Given the description of an element on the screen output the (x, y) to click on. 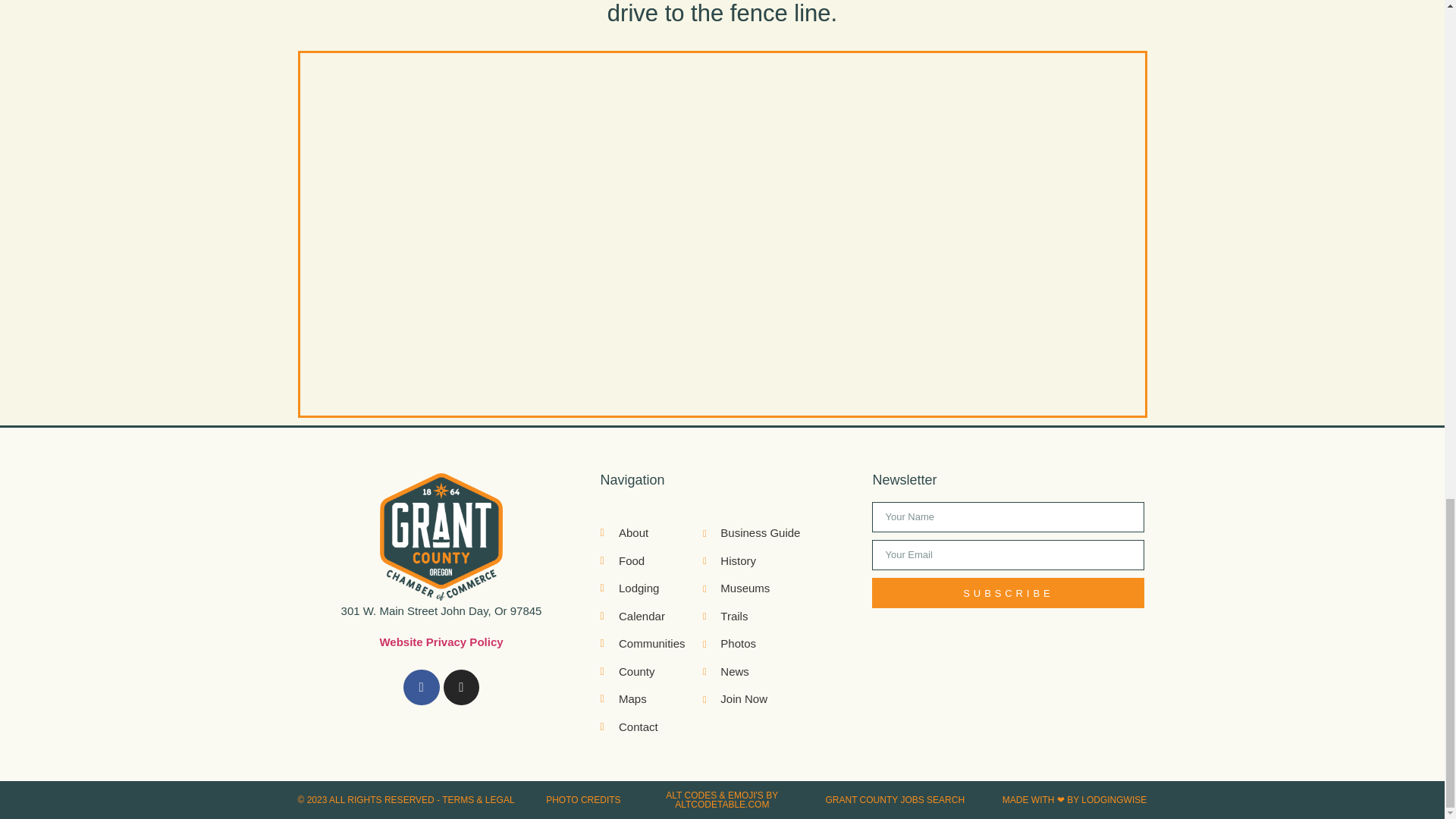
Lodging (651, 588)
About (651, 533)
Calendar (651, 616)
Website Privacy Policy (440, 641)
Food (651, 561)
